Given the description of an element on the screen output the (x, y) to click on. 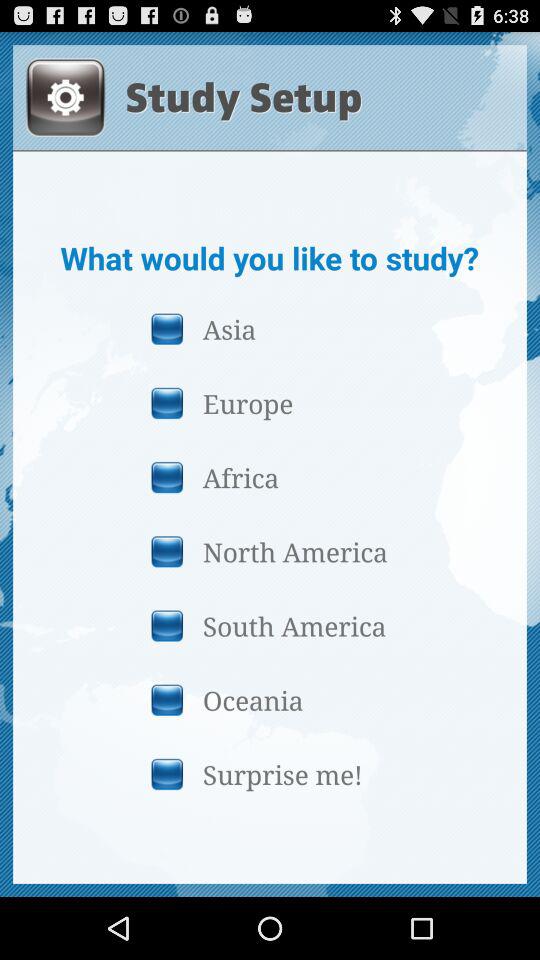
select icon above oceania item (269, 625)
